Given the description of an element on the screen output the (x, y) to click on. 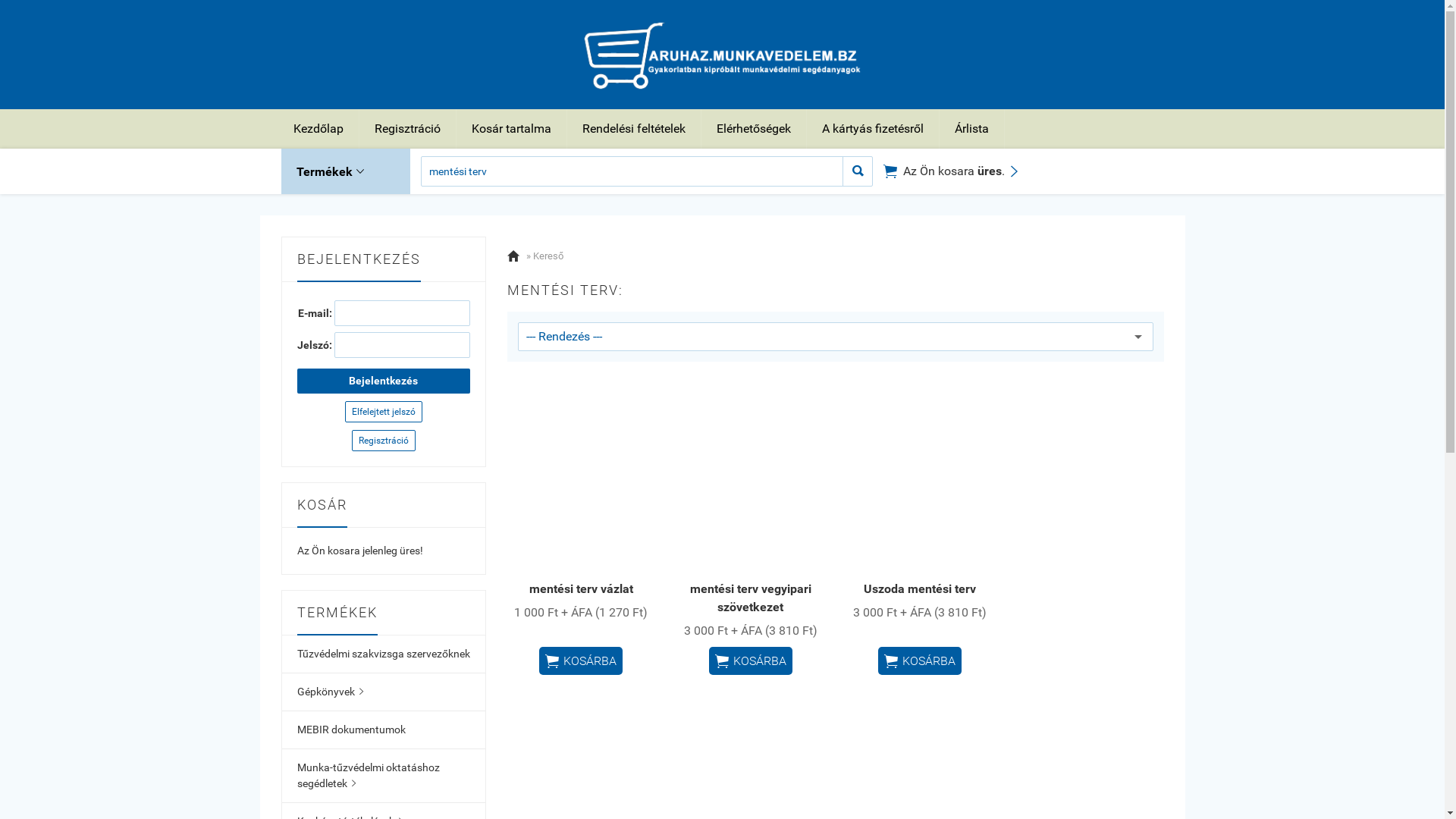
MEBIR dokumentumok Element type: text (383, 729)
